Given the description of an element on the screen output the (x, y) to click on. 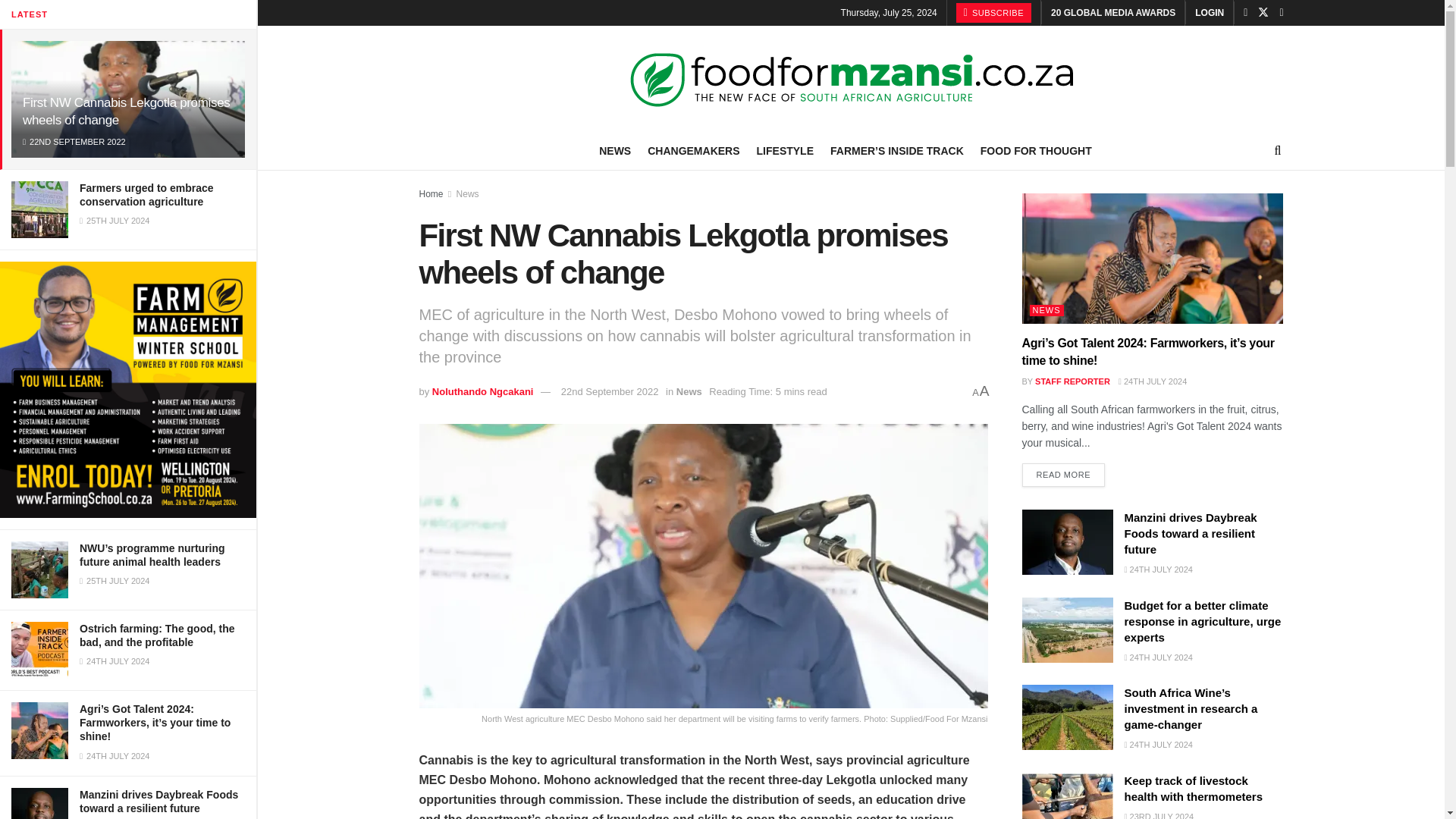
NEWS (614, 150)
LOGIN (1209, 12)
Farmers urged to embrace conservation agriculture (147, 194)
FOOD FOR THOUGHT (1035, 150)
Manzini drives Daybreak Foods toward a resilient future (159, 801)
SUBSCRIBE (993, 12)
Ostrich farming: The good, the bad, and the profitable (157, 635)
LIFESTYLE (785, 150)
CHANGEMAKERS (693, 150)
First NW Cannabis Lekgotla promises wheels of change (126, 111)
